Given the description of an element on the screen output the (x, y) to click on. 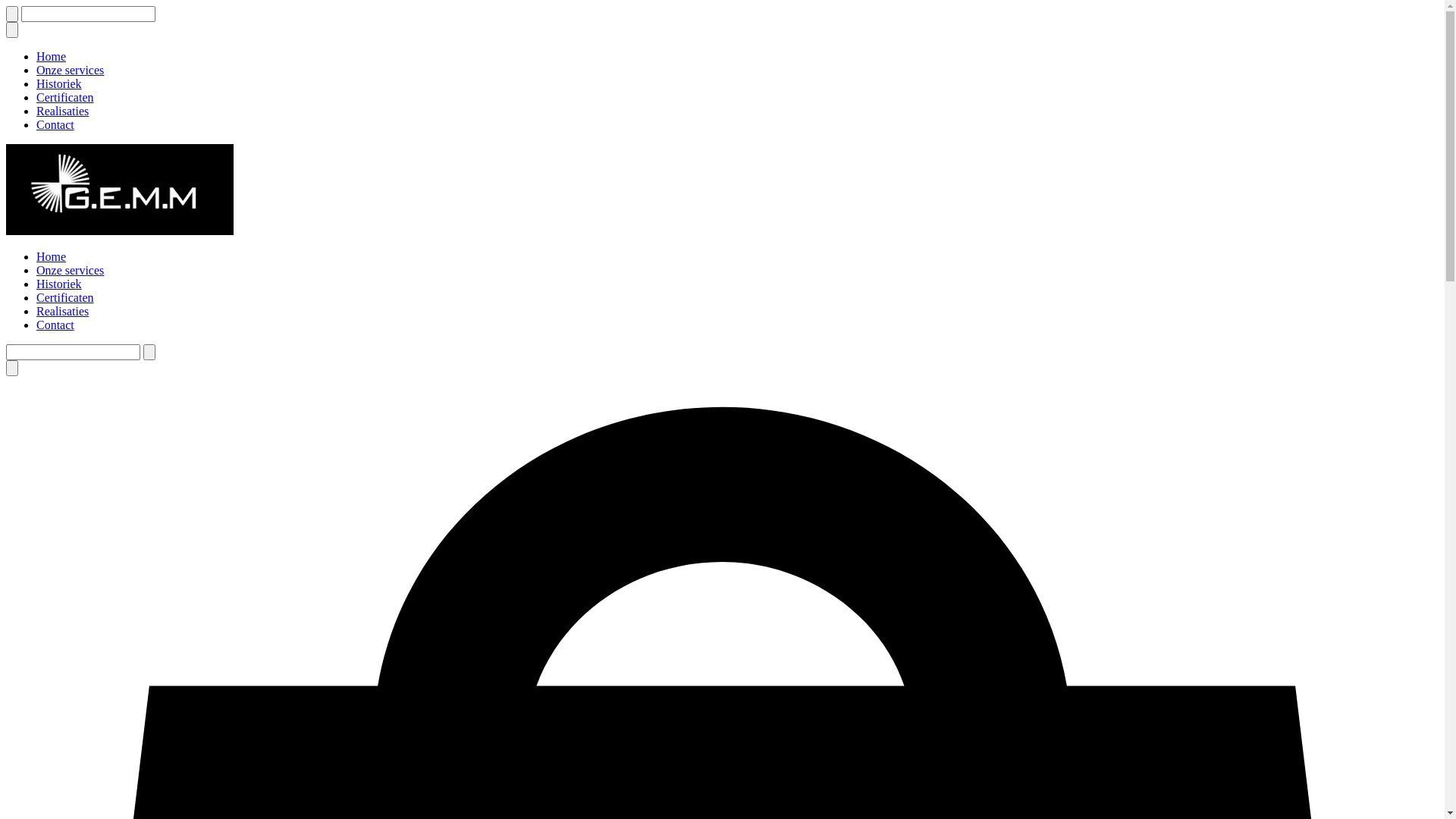
Home Element type: text (50, 56)
Realisaties Element type: text (62, 310)
Historiek Element type: text (58, 283)
Certificaten Element type: text (65, 97)
Certificaten Element type: text (65, 297)
Onze services Element type: text (69, 69)
Home Element type: text (50, 256)
Onze services Element type: text (69, 269)
Realisaties Element type: text (62, 110)
Contact Element type: text (55, 324)
Historiek Element type: text (58, 83)
Contact Element type: text (55, 124)
